Given the description of an element on the screen output the (x, y) to click on. 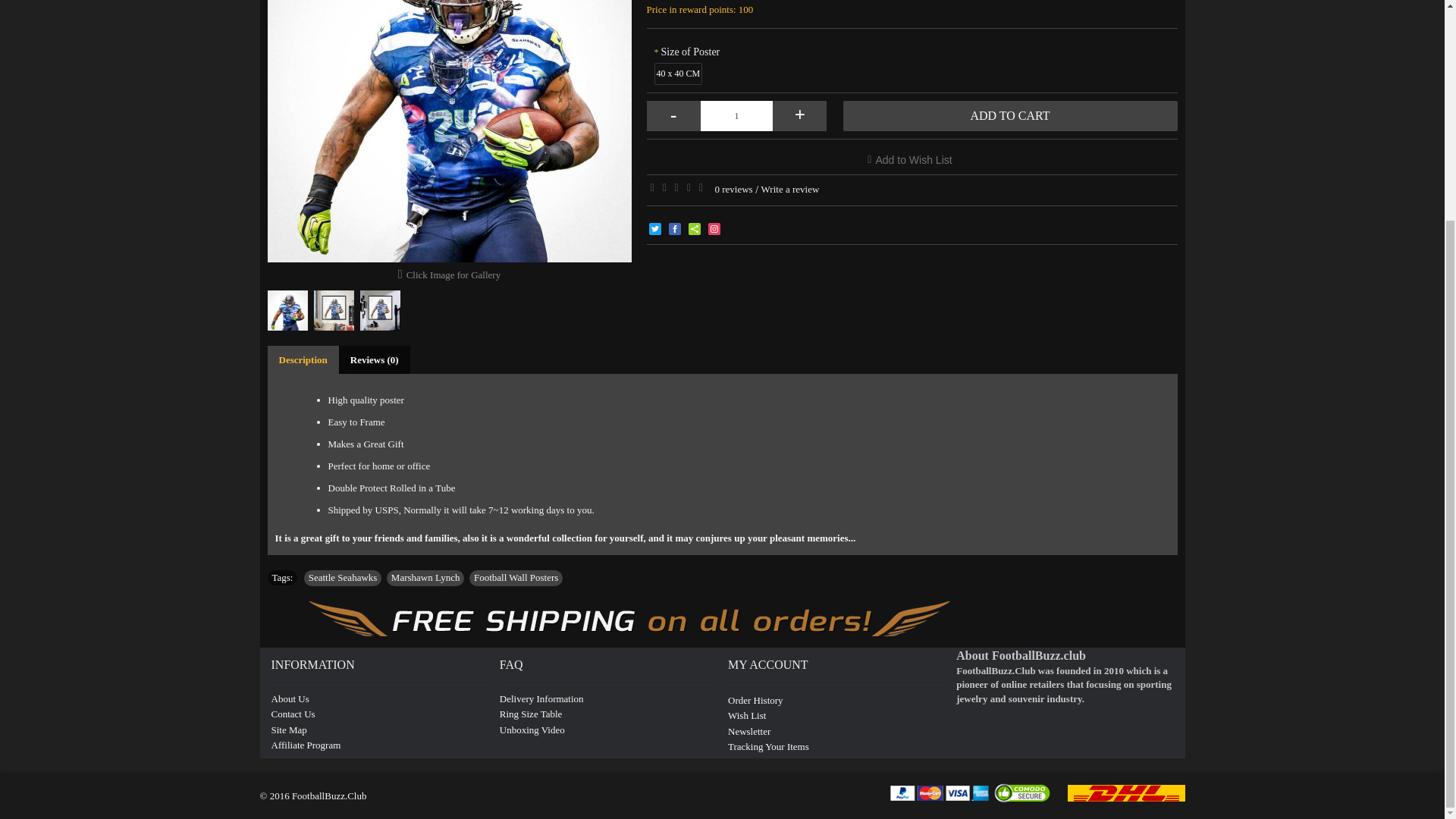
Free Shipping for All Orders (622, 618)
1 (736, 115)
